Given the description of an element on the screen output the (x, y) to click on. 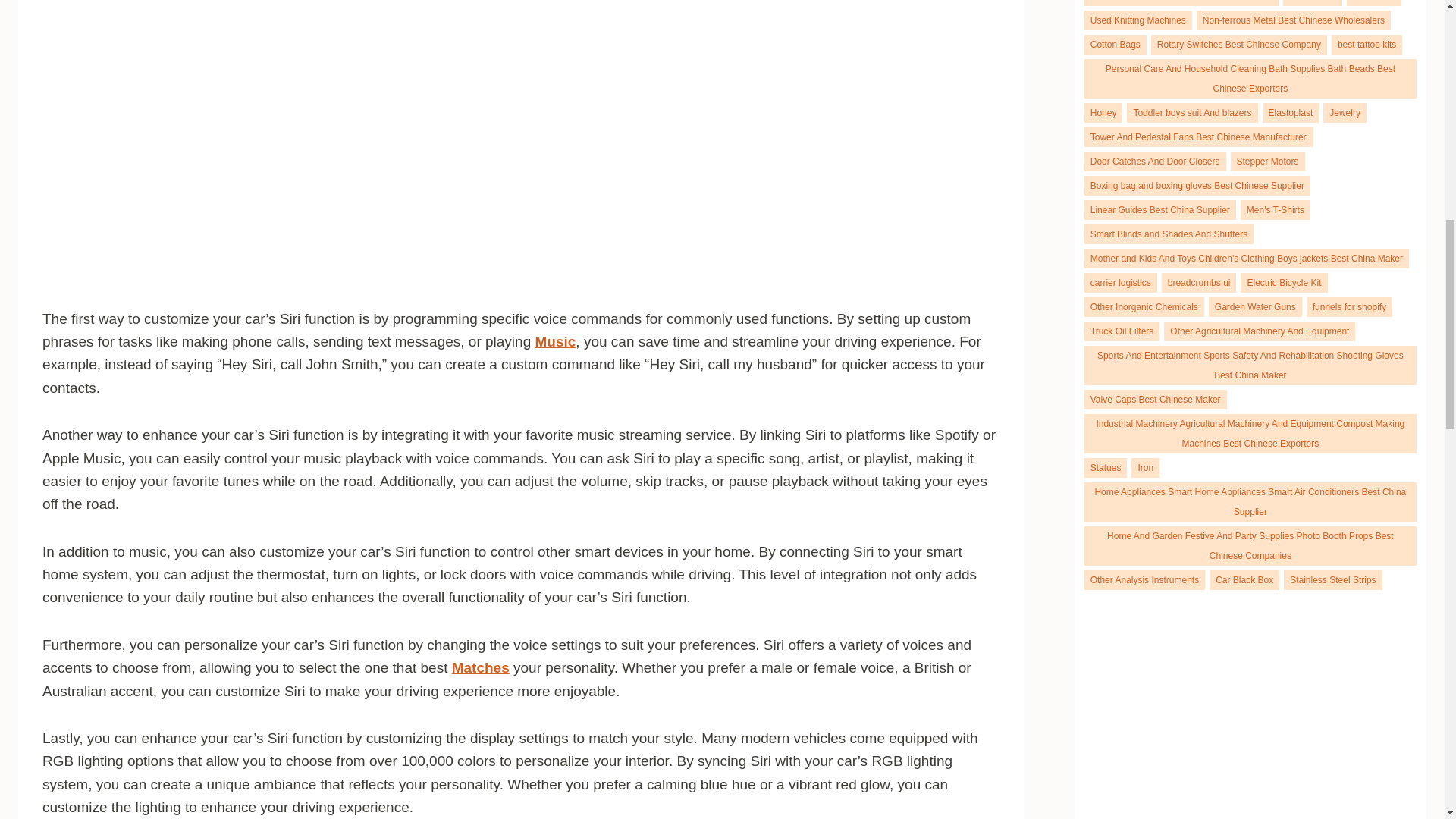
Matches (480, 667)
Music (555, 341)
